Given the description of an element on the screen output the (x, y) to click on. 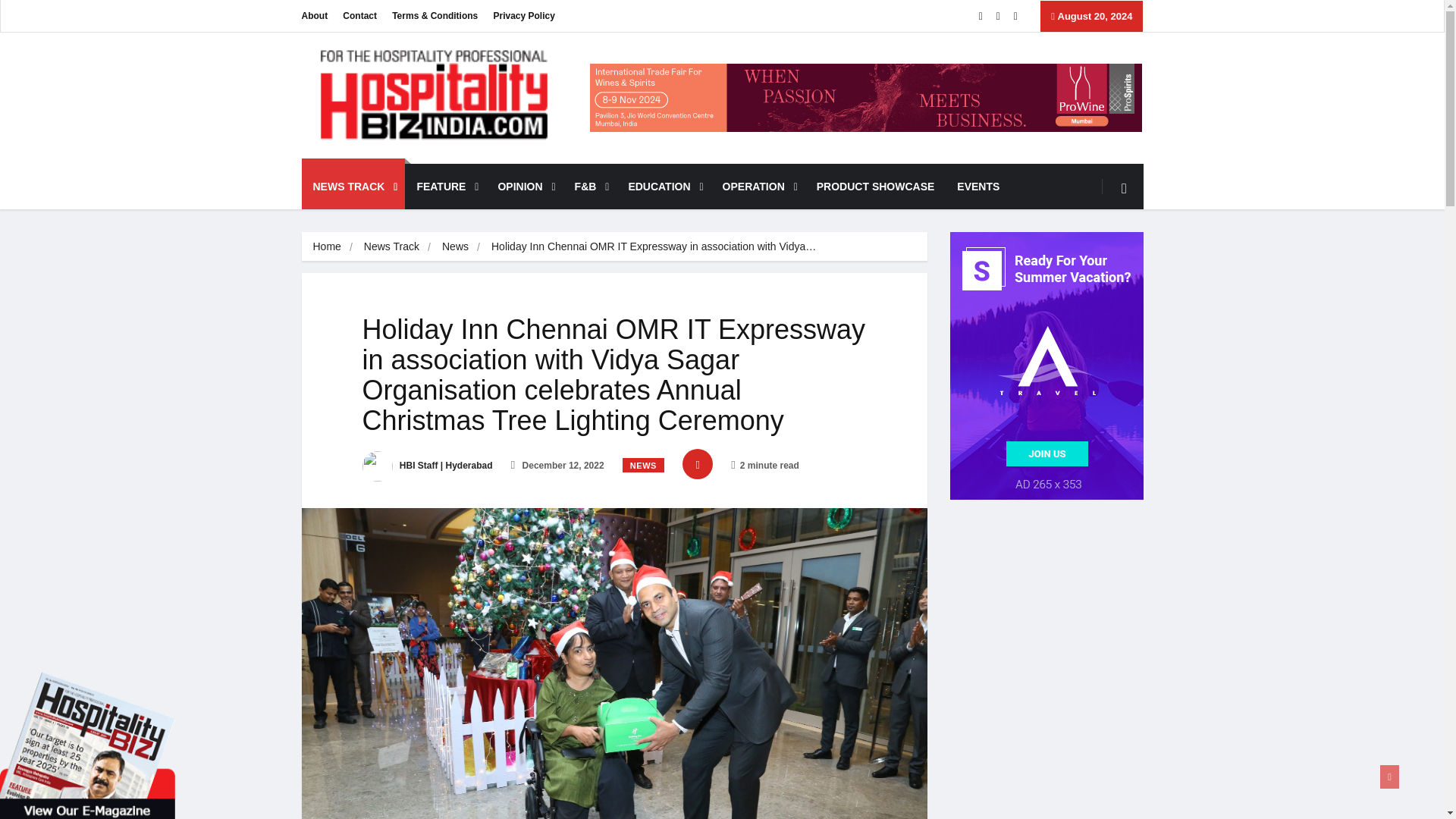
NEWS TRACK (353, 186)
Contact (359, 15)
Privacy Policy (523, 15)
